Given the description of an element on the screen output the (x, y) to click on. 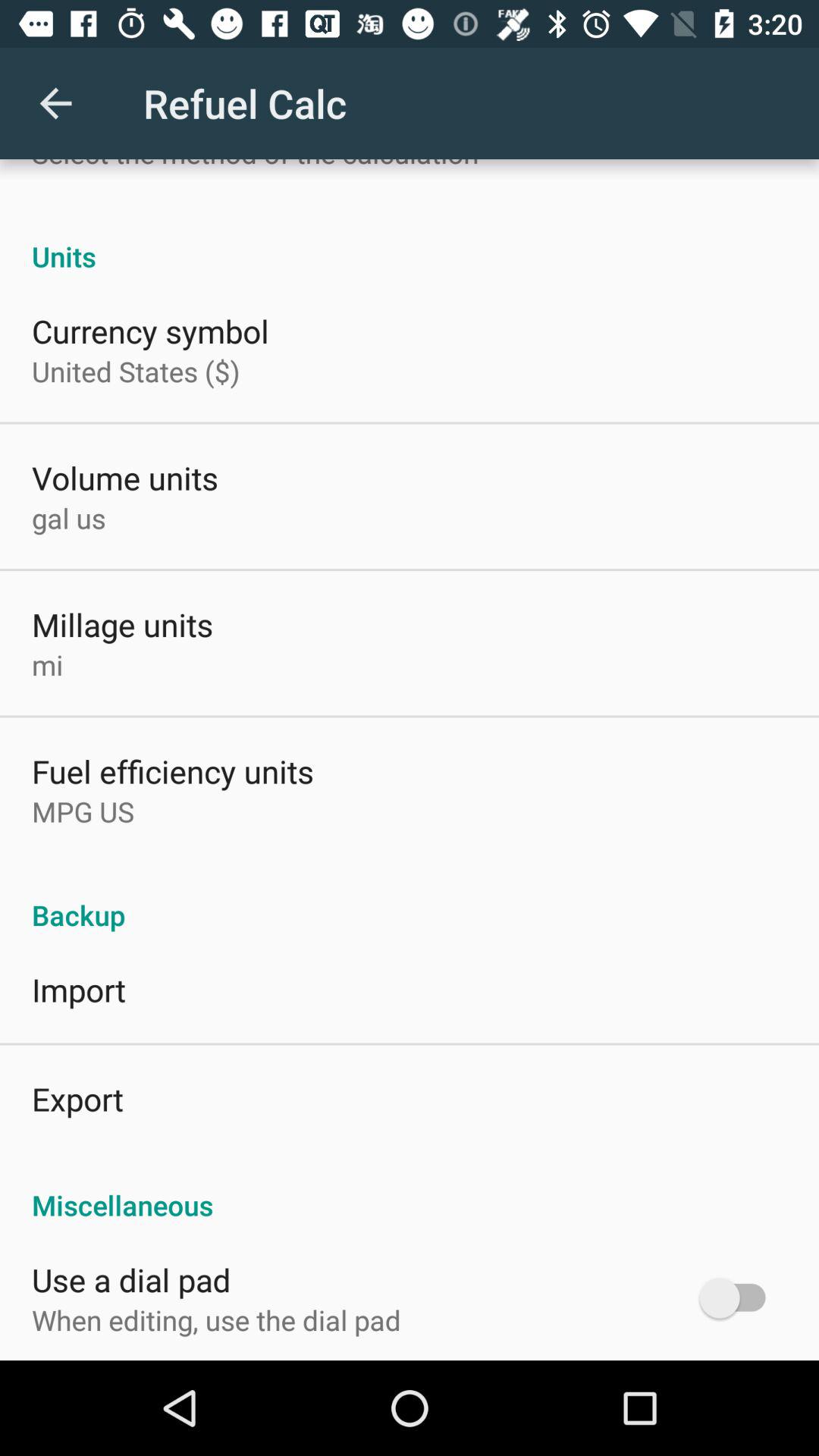
select item at the bottom right corner (739, 1298)
